Given the description of an element on the screen output the (x, y) to click on. 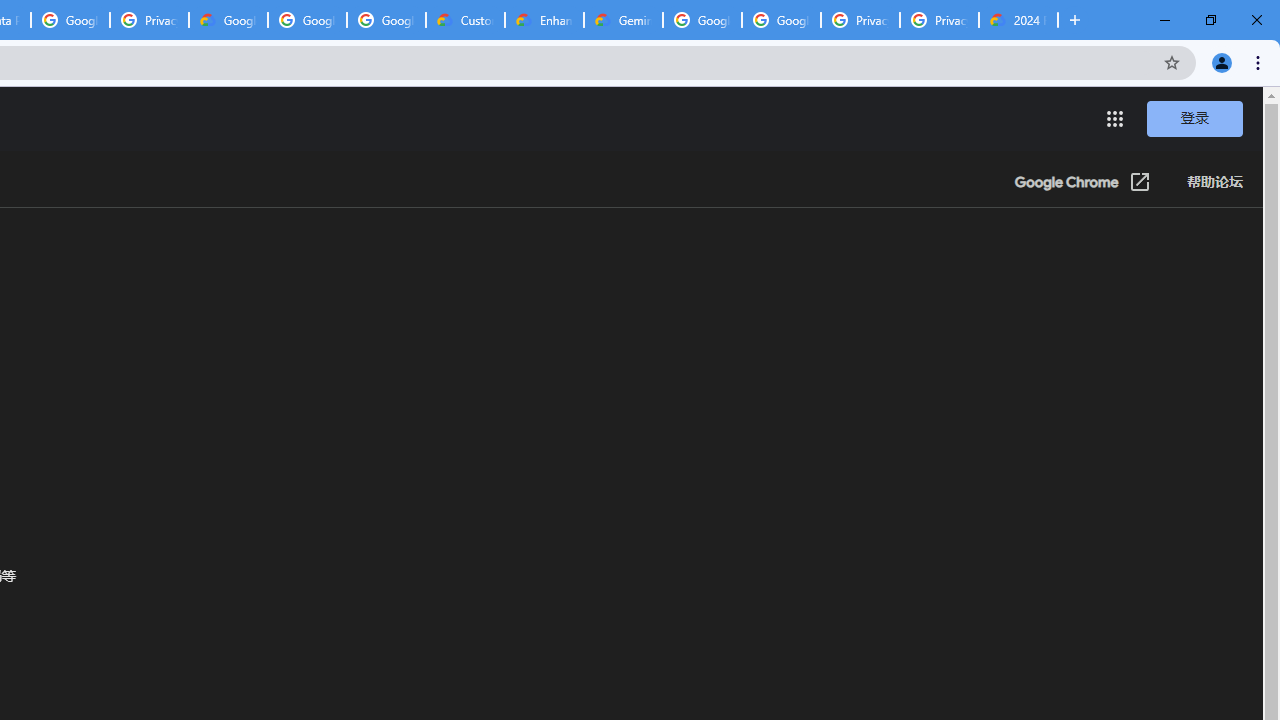
Google Workspace - Specific Terms (386, 20)
Gemini for Business and Developers | Google Cloud (623, 20)
Google Cloud Platform (781, 20)
Google Cloud Terms Directory | Google Cloud (228, 20)
Google Cloud Platform (702, 20)
Customer Care | Google Cloud (465, 20)
Enhanced Support | Google Cloud (544, 20)
